Given the description of an element on the screen output the (x, y) to click on. 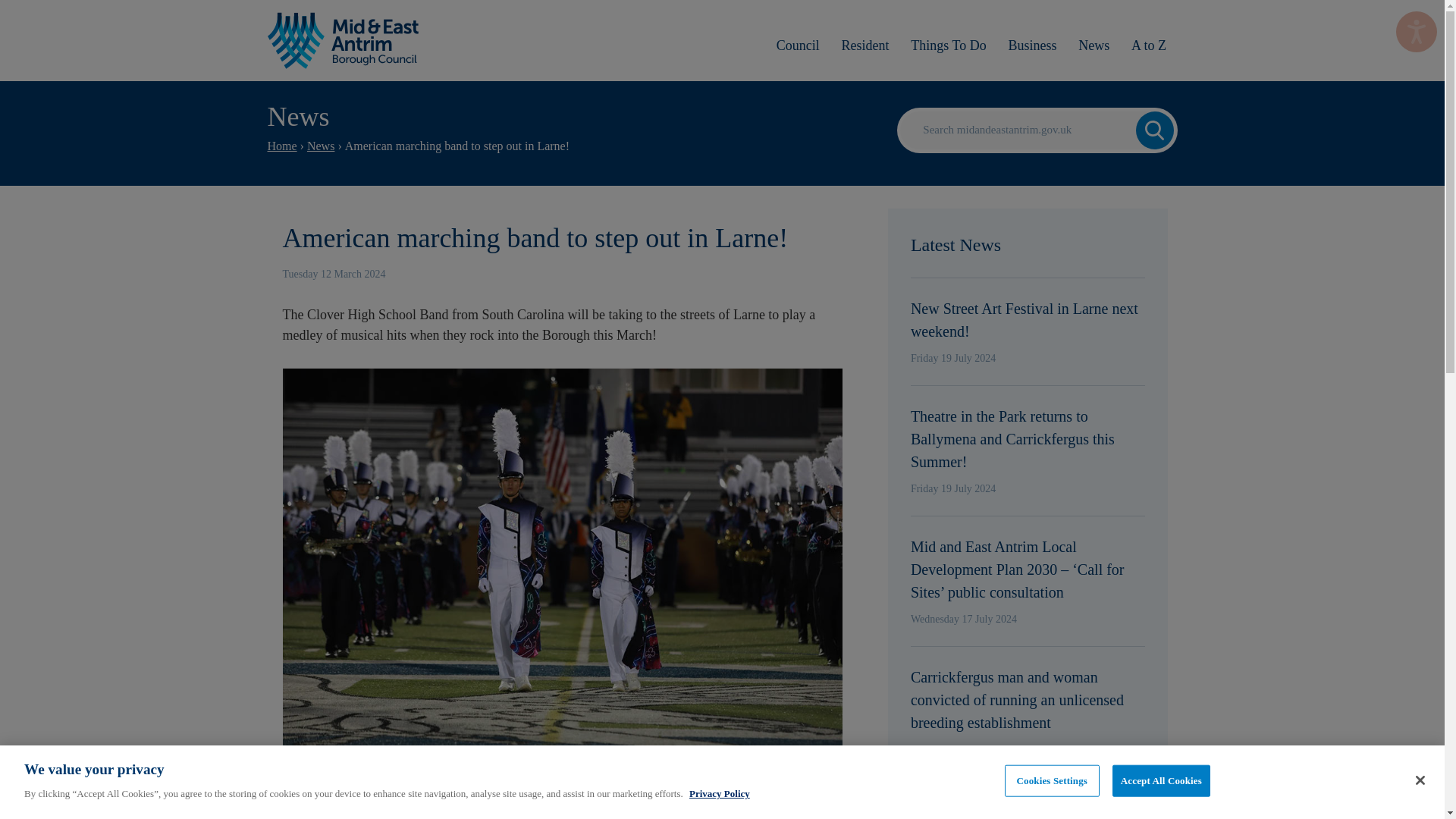
A to Z (1149, 44)
Listen with the ReachDeck Toolbar (1416, 31)
Go to Homepage (342, 40)
Council (797, 44)
See More News (1027, 809)
Resident (864, 44)
News (320, 145)
Home (281, 145)
Things To Do (948, 44)
New Street Art Festival in Larne next weekend! (1027, 320)
Business (1032, 44)
News (1094, 44)
